Given the description of an element on the screen output the (x, y) to click on. 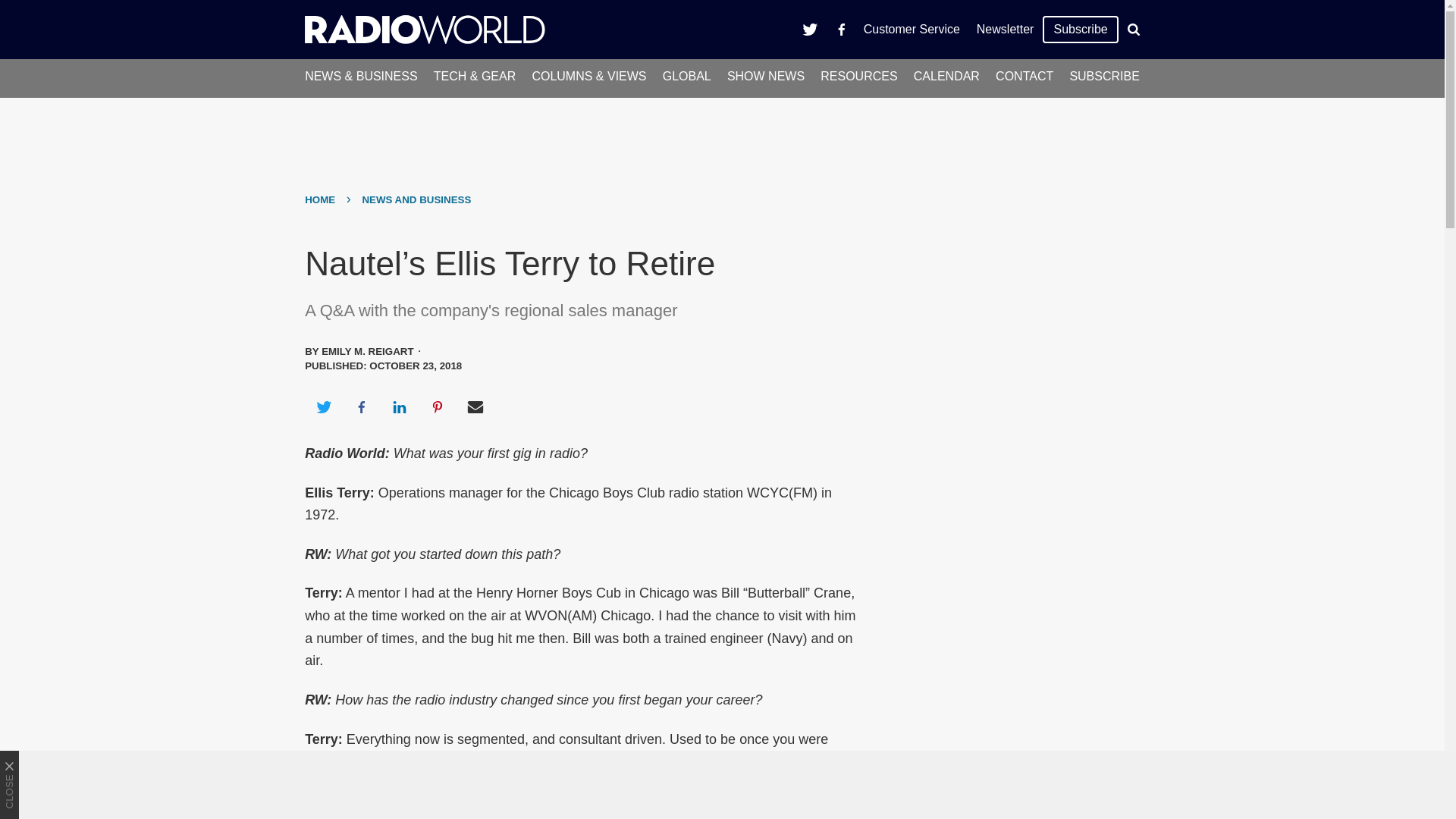
Share on Twitter (323, 406)
Share on Facebook (361, 406)
Share on LinkedIn (399, 406)
Customer Service (912, 29)
Share via Email (476, 406)
Share on Pinterest (438, 406)
